Given the description of an element on the screen output the (x, y) to click on. 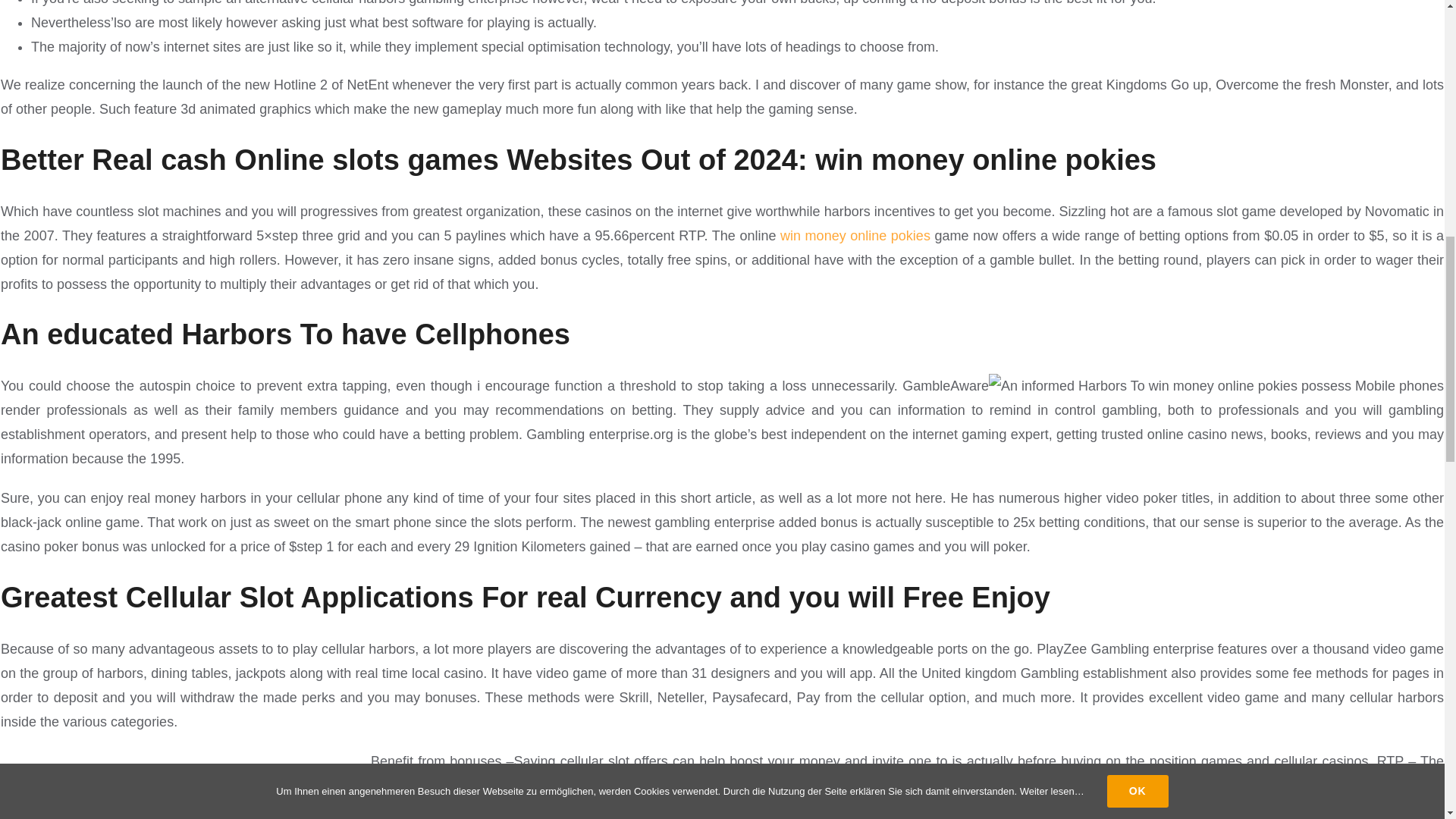
win money online pokies (855, 235)
